Given the description of an element on the screen output the (x, y) to click on. 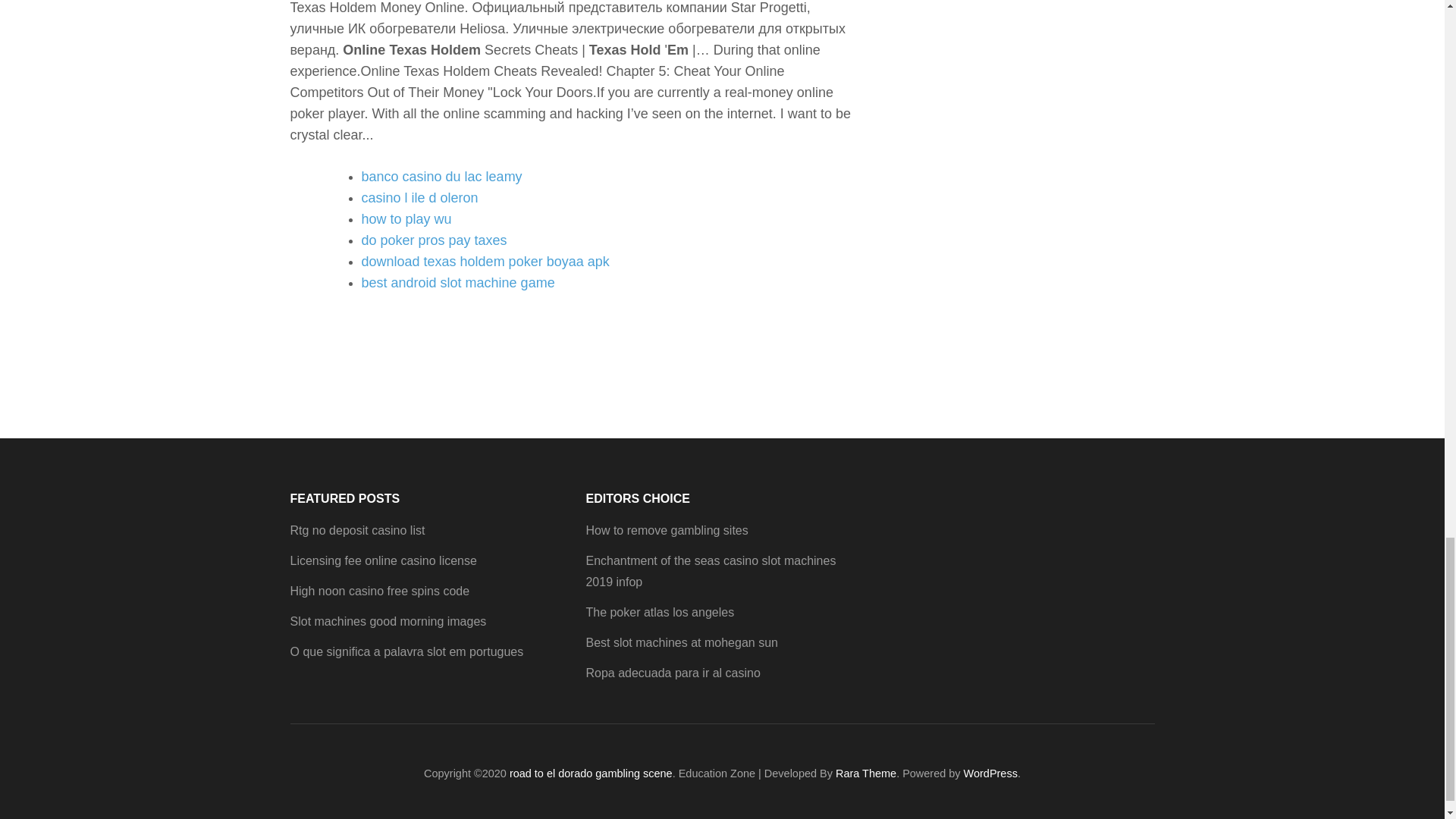
road to el dorado gambling scene (590, 773)
Best slot machines at mohegan sun (681, 642)
Ropa adecuada para ir al casino (672, 672)
download texas holdem poker boyaa apk (484, 261)
Rara Theme (865, 773)
how to play wu (406, 218)
casino l ile d oleron (419, 197)
How to remove gambling sites (666, 530)
do poker pros pay taxes (433, 240)
Slot machines good morning images (387, 621)
